Given the description of an element on the screen output the (x, y) to click on. 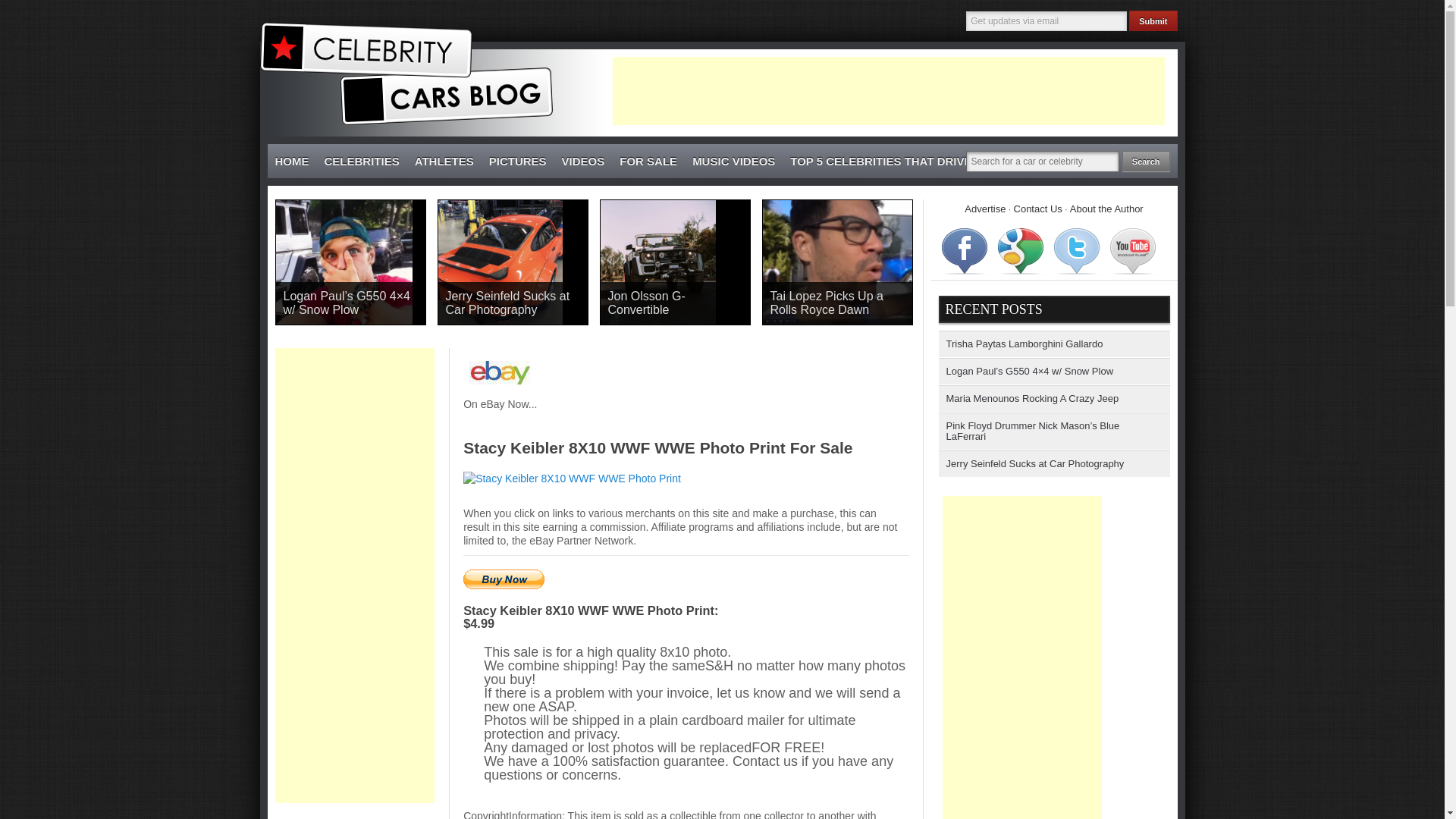
HOME (290, 161)
Submit (1152, 20)
Twitter (1076, 250)
Buy Now (503, 578)
TOP 5 CELEBRITIES THAT DRIVE PINK (896, 161)
Search (1146, 160)
Search (1146, 160)
Facebook (964, 250)
Contact Us (1037, 208)
FOR SALE (647, 161)
Jon Olsson G-Convertible (675, 302)
CELEBRITIES (362, 161)
Jerry Seinfeld Sucks at Car Photography (513, 302)
Stacy Keibler 8X10 WWF WWE Photo Print (682, 478)
YouTube (1132, 250)
